Given the description of an element on the screen output the (x, y) to click on. 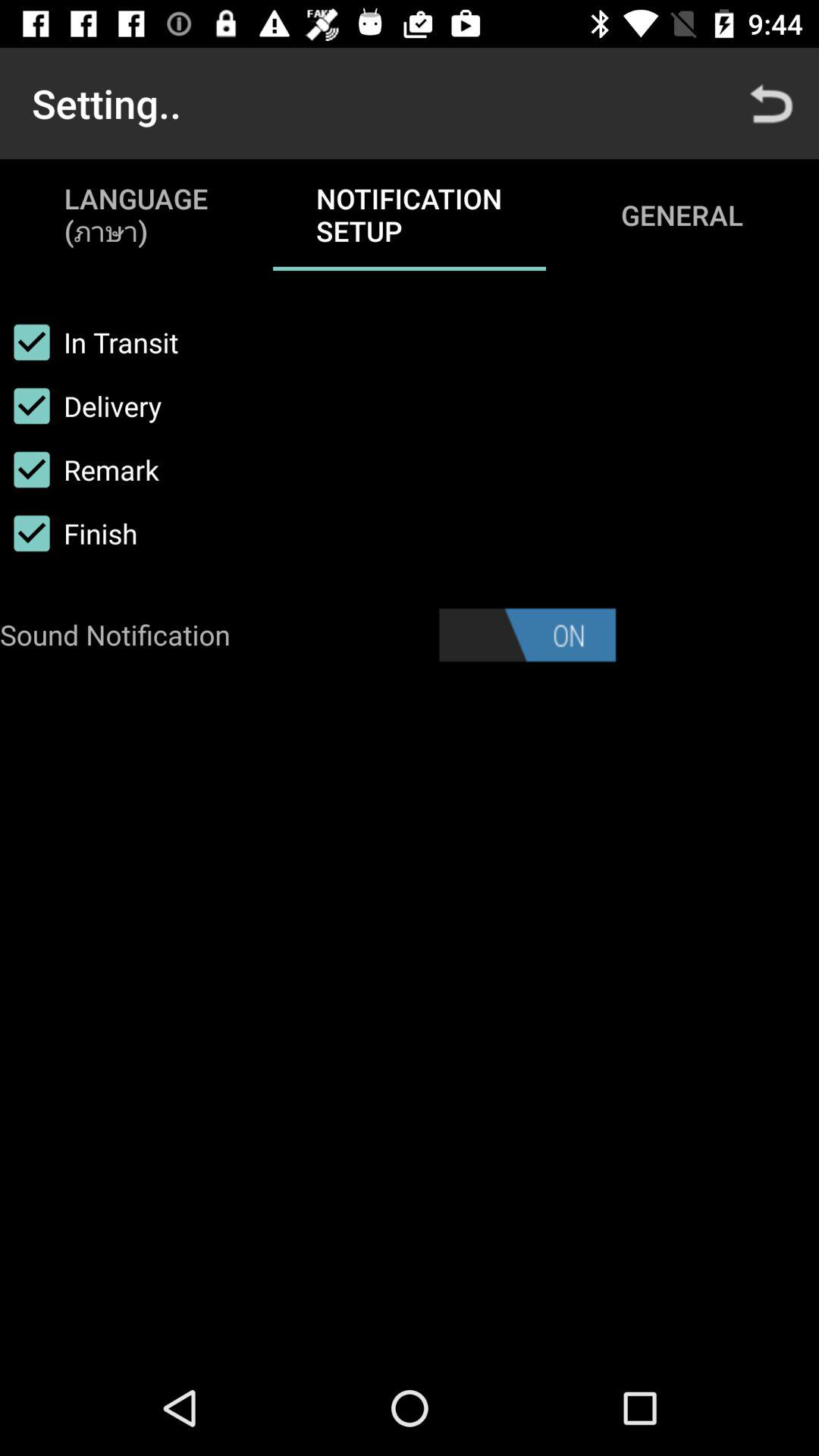
switch sound notification option (527, 634)
